Given the description of an element on the screen output the (x, y) to click on. 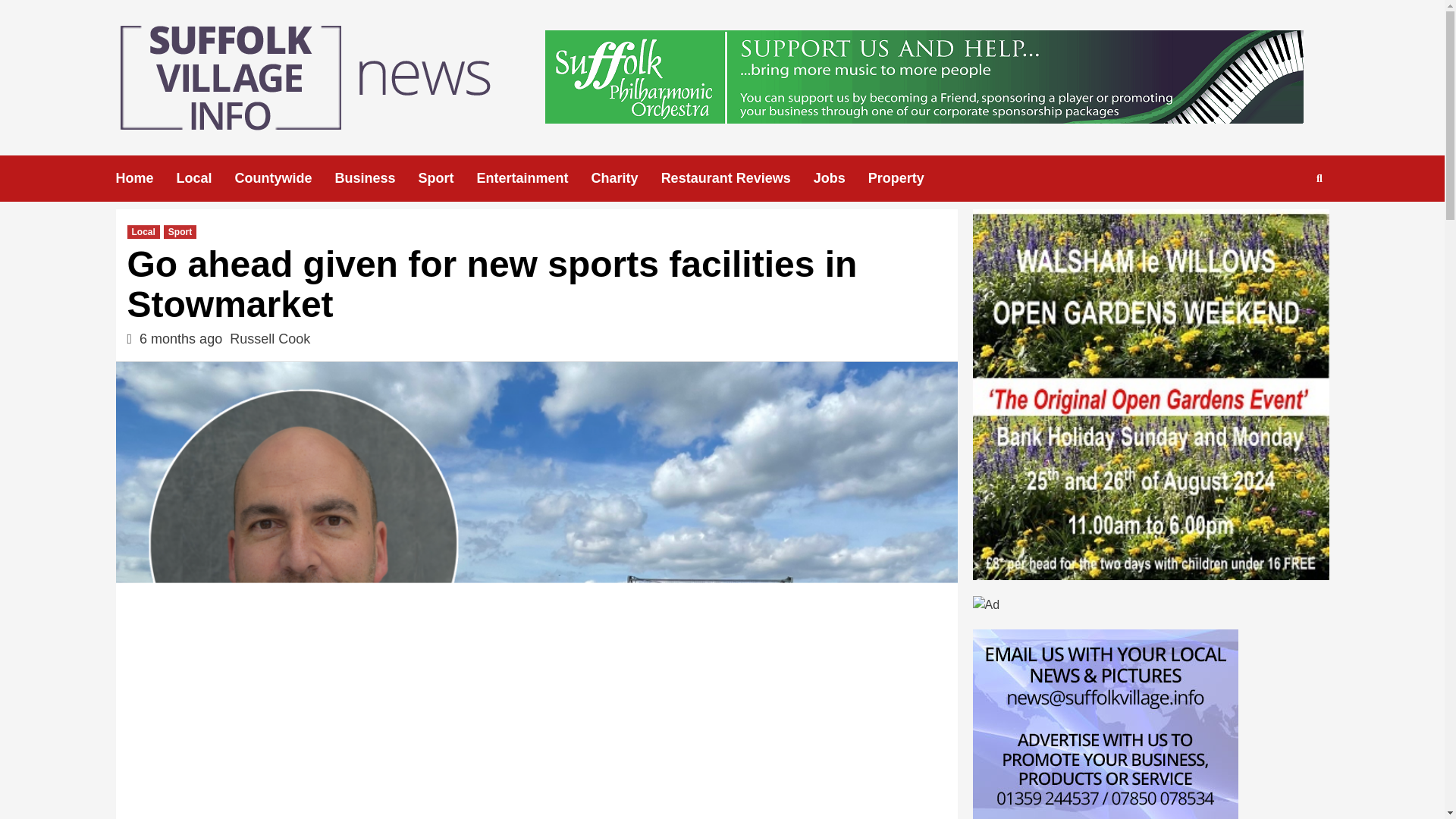
Property (907, 178)
Jobs (840, 178)
Business (376, 178)
Home (145, 178)
Sport (179, 232)
Search (1283, 226)
Restaurant Reviews (737, 178)
Sport (448, 178)
Local (205, 178)
Charity (626, 178)
